Given the description of an element on the screen output the (x, y) to click on. 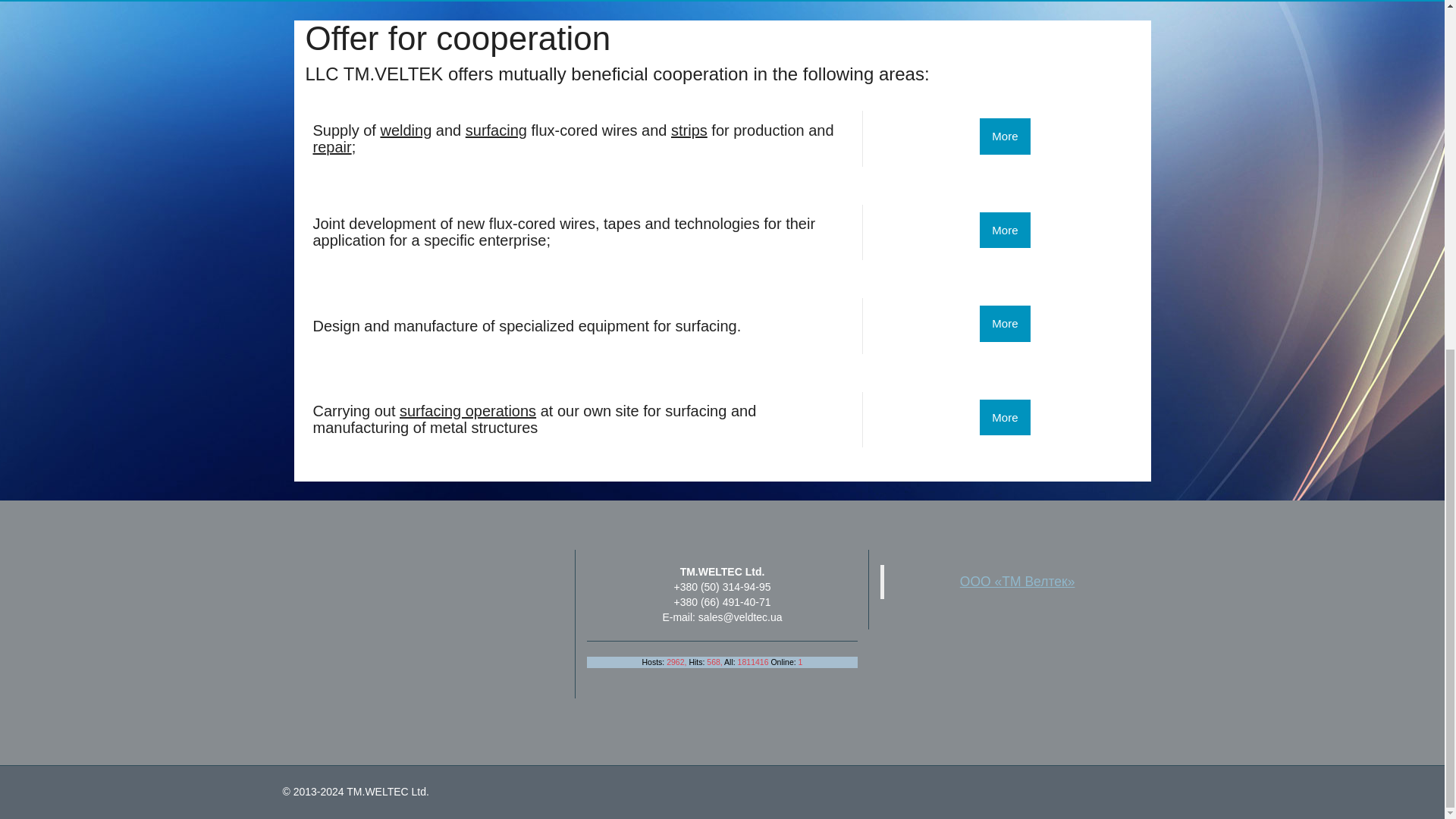
strips (689, 130)
welding (405, 130)
surfacing (496, 130)
More (1004, 135)
repair (331, 146)
